Given the description of an element on the screen output the (x, y) to click on. 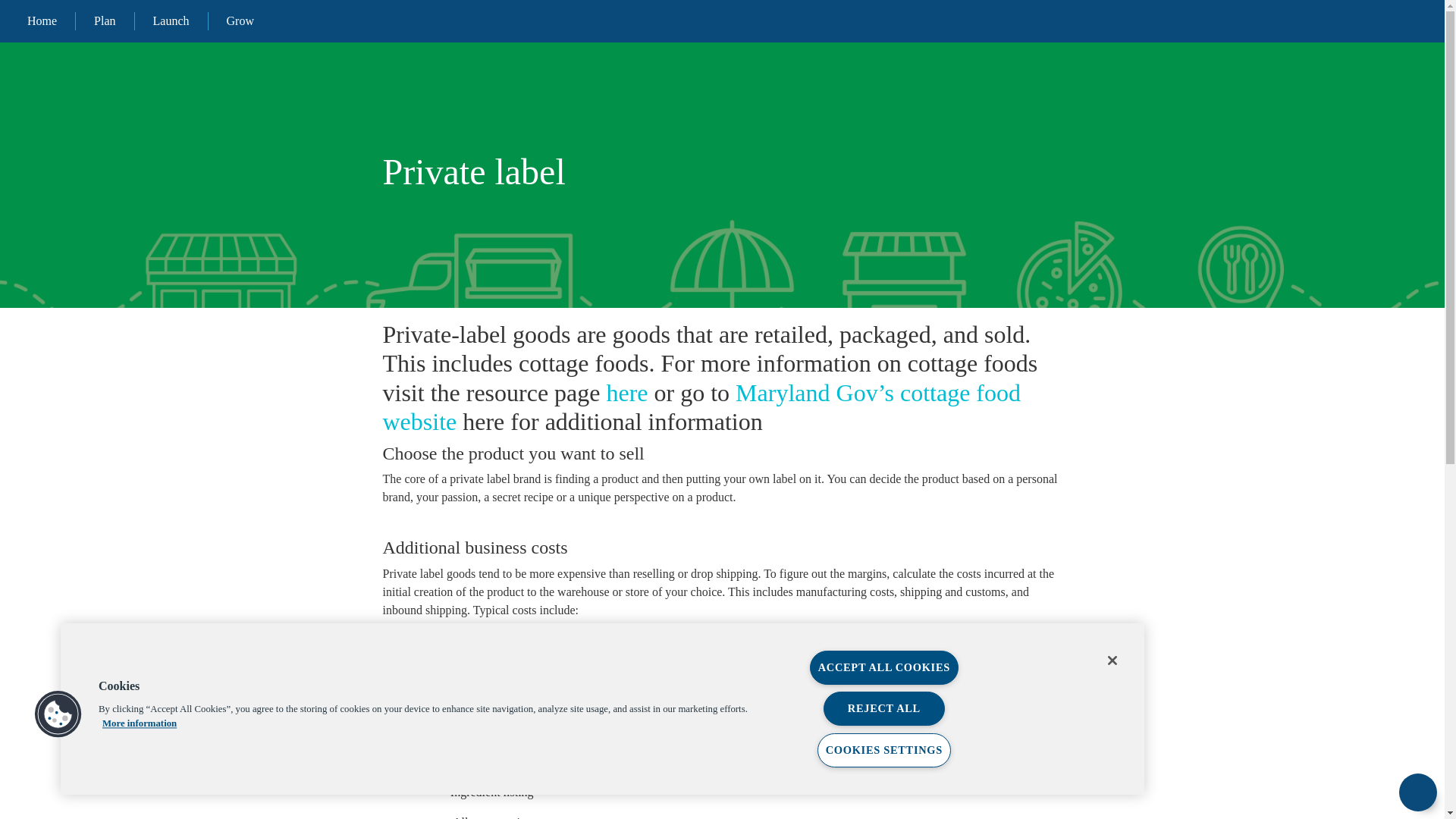
REJECT ALL (884, 708)
Cookies Button (57, 714)
ACCEPT ALL COOKIES (883, 667)
here (627, 392)
More information (138, 723)
Grow (240, 21)
Plan (103, 21)
Cookies Button (57, 714)
COOKIES SETTINGS (883, 750)
Launch (171, 21)
Home (41, 21)
